Given the description of an element on the screen output the (x, y) to click on. 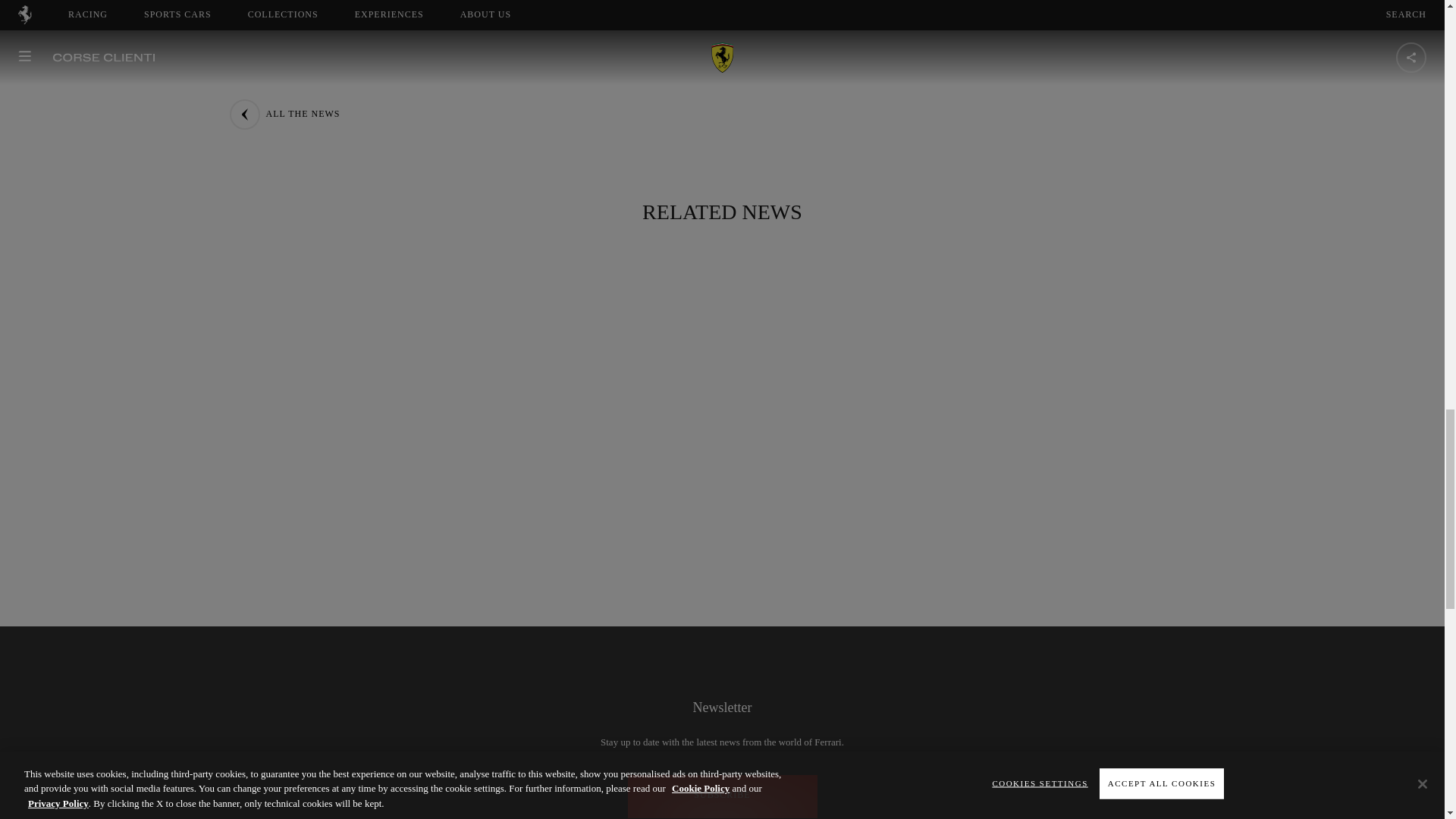
ROSSOCORSA (949, 71)
SUBSCRIBE (721, 796)
SEASON 2021 (832, 71)
View all (595, 104)
JAMES WEILAND (1075, 71)
RACE (499, 104)
FERRARI CHALLENGE EUROPE (674, 71)
COPPA SHELL (514, 71)
